Given the description of an element on the screen output the (x, y) to click on. 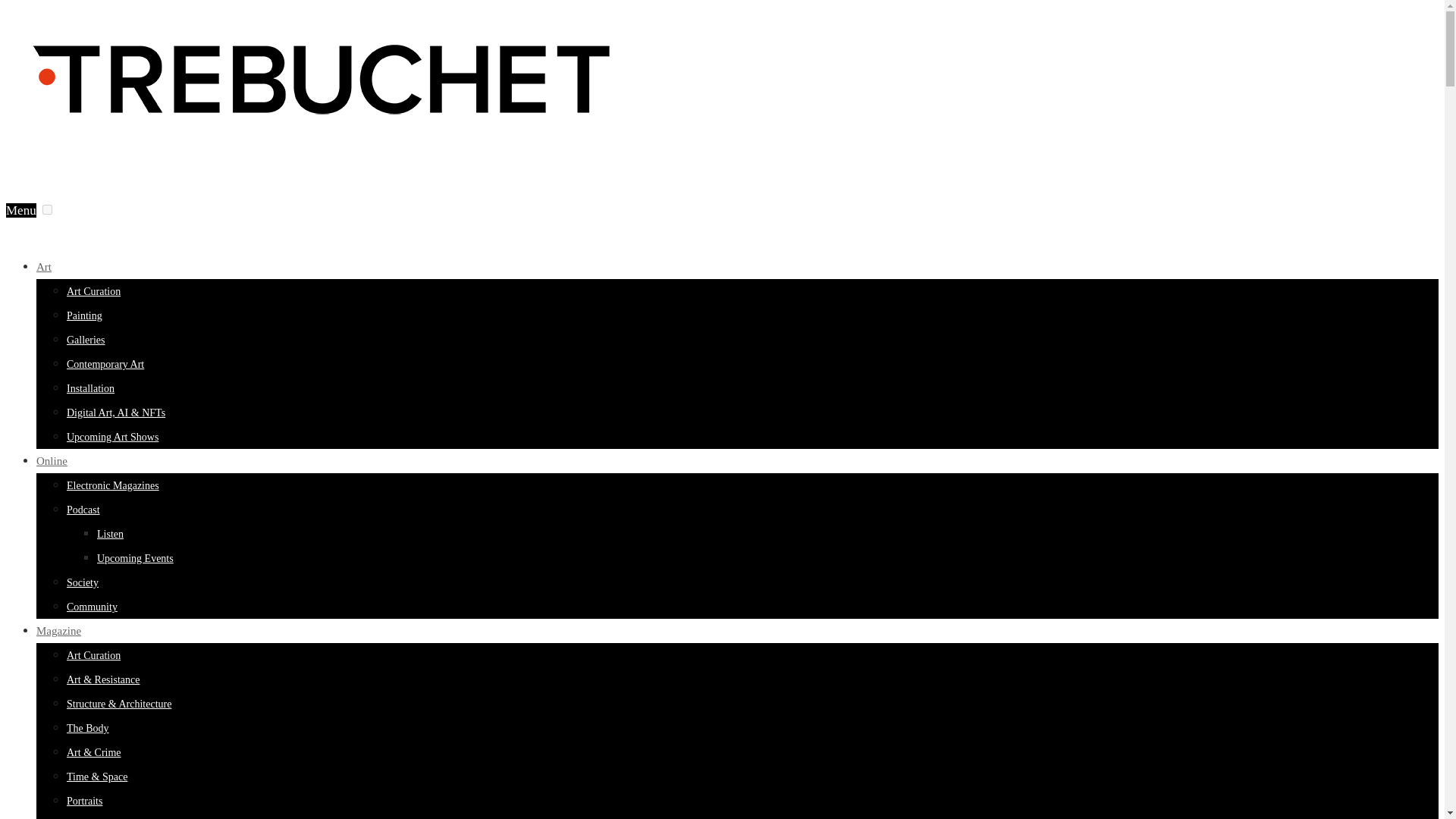
Community (91, 606)
Contemporary Art (105, 364)
Listen (110, 533)
Portraits (83, 800)
Online (51, 460)
Art Curation (93, 291)
Society (82, 582)
Electronic Magazines (112, 485)
Upcoming Art Shows (112, 437)
on (47, 209)
Installation (90, 388)
The Body (87, 727)
Art (43, 266)
Art Curation (93, 655)
Painting (83, 315)
